Given the description of an element on the screen output the (x, y) to click on. 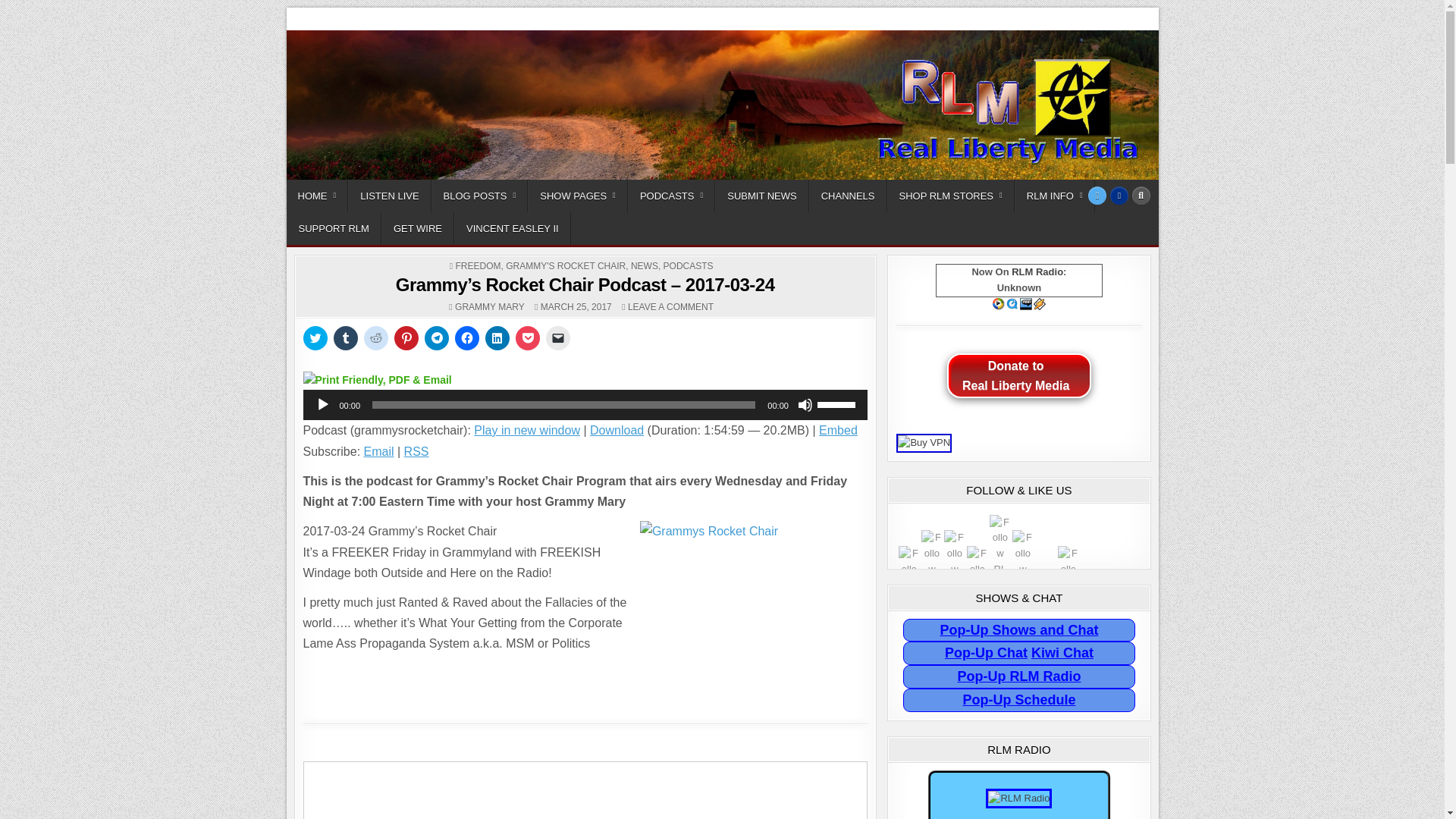
Podcast Archives (670, 195)
Click to share on Reddit (376, 337)
Click to share on Twitter (314, 337)
Select a Channel (847, 195)
Click to share on Tumblr (345, 337)
HOME (317, 195)
SHOW PAGES (577, 195)
Listen Live (388, 195)
BLOG POSTS (479, 195)
Search (1140, 194)
Real Liberty Media (367, 26)
